Given the description of an element on the screen output the (x, y) to click on. 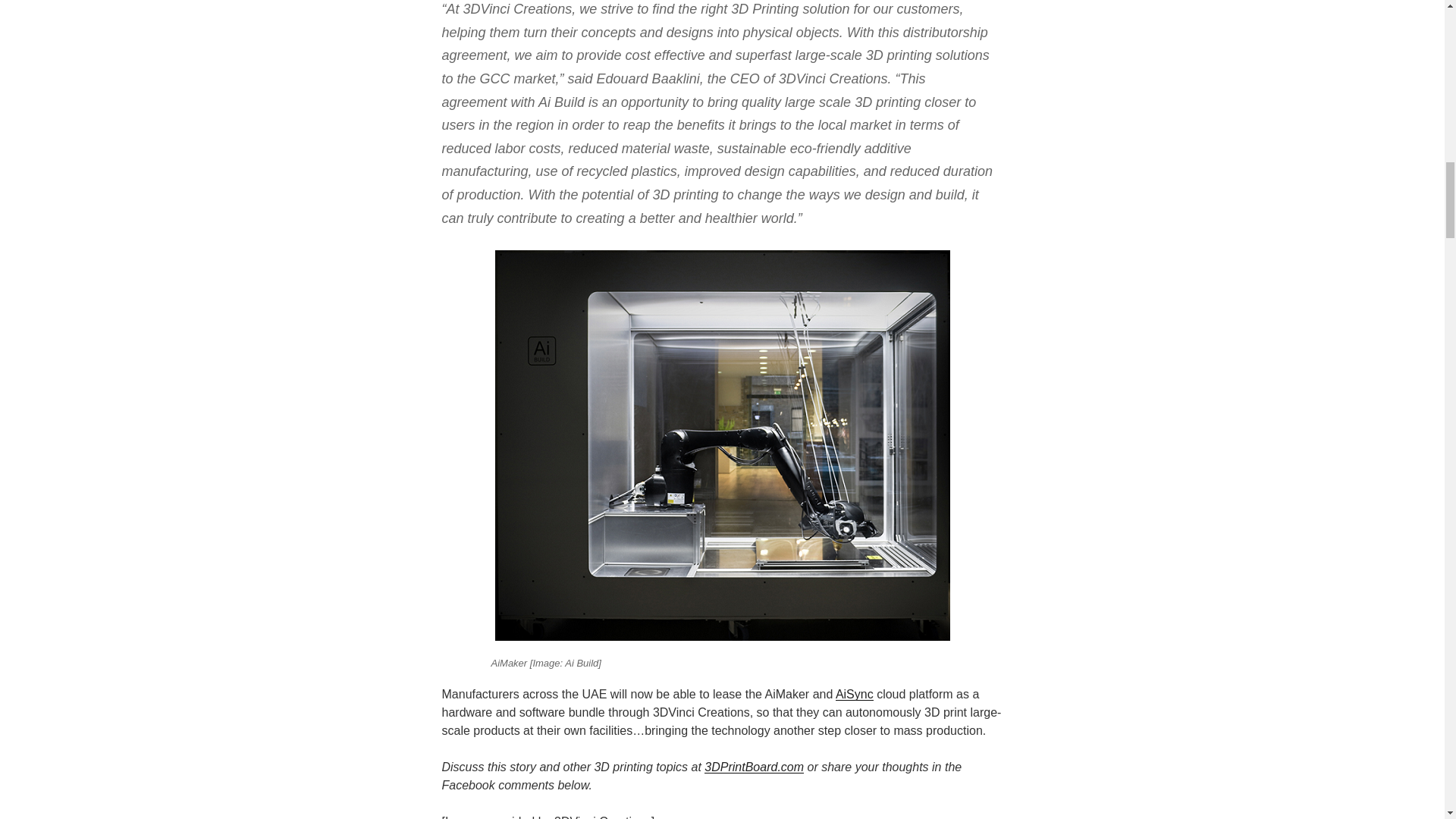
AiSync (854, 694)
3DPrintBoard.com (753, 766)
